Given the description of an element on the screen output the (x, y) to click on. 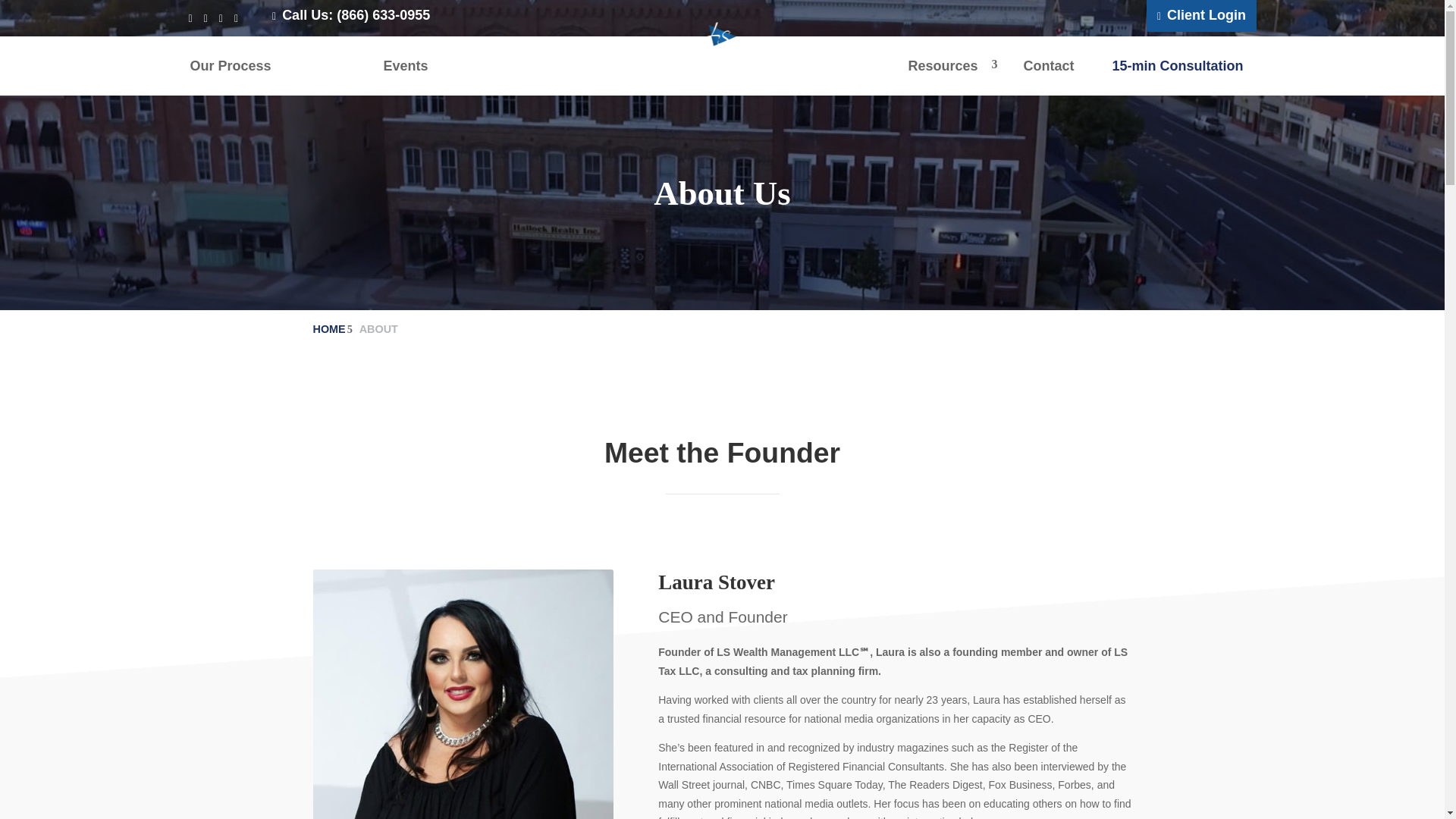
Events (405, 65)
Client Login (1201, 15)
Contact (1177, 65)
About (1048, 65)
CEO Laura Stover (327, 65)
Our Process (462, 694)
Resources (229, 65)
